Given the description of an element on the screen output the (x, y) to click on. 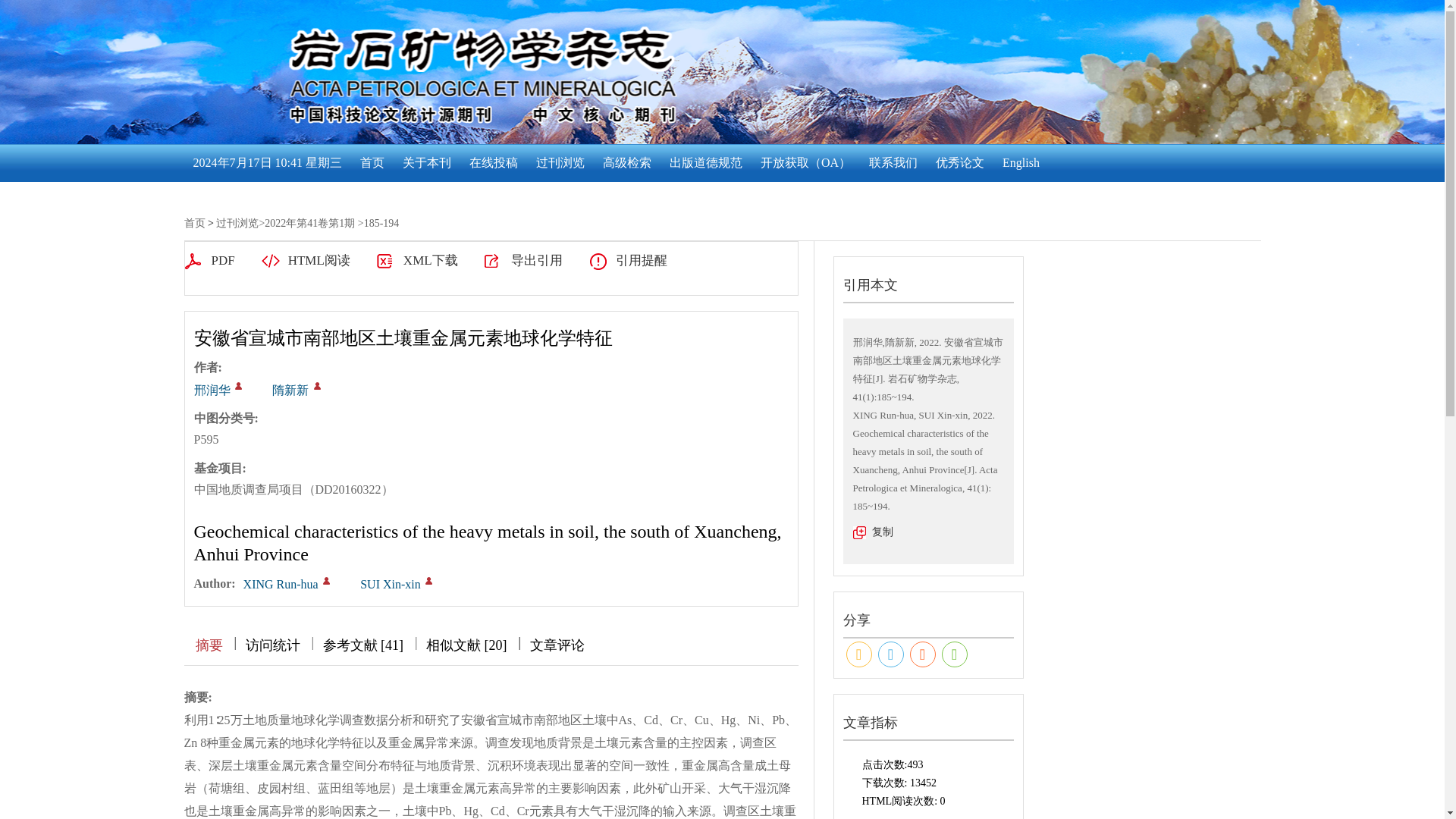
English (1020, 162)
Contact author:SUI Xin-xin,Email:  (428, 580)
PDF (209, 260)
Contact author:XING Run-hua,Email:  (326, 580)
